Given the description of an element on the screen output the (x, y) to click on. 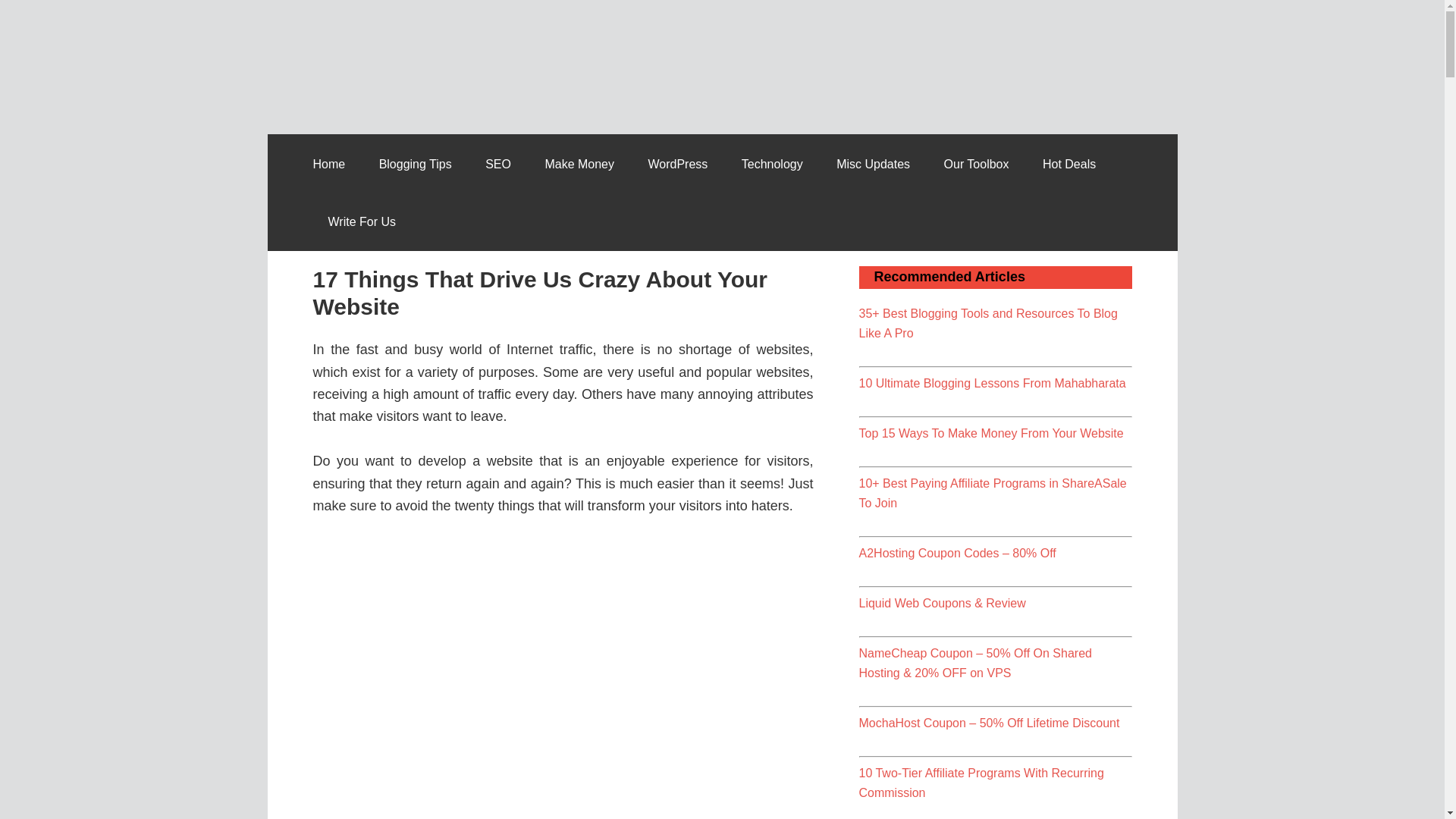
SEO (497, 164)
Blogging Tips (415, 164)
Misc Updates (872, 164)
Hot Deals (1068, 164)
Our Toolbox (976, 164)
WordPress (676, 164)
Write For Us (361, 221)
CatchUpdates.com (426, 44)
Technology (772, 164)
Make Money (578, 164)
17 Things That Drive Us Crazy About Your Website 1 (562, 679)
